Given the description of an element on the screen output the (x, y) to click on. 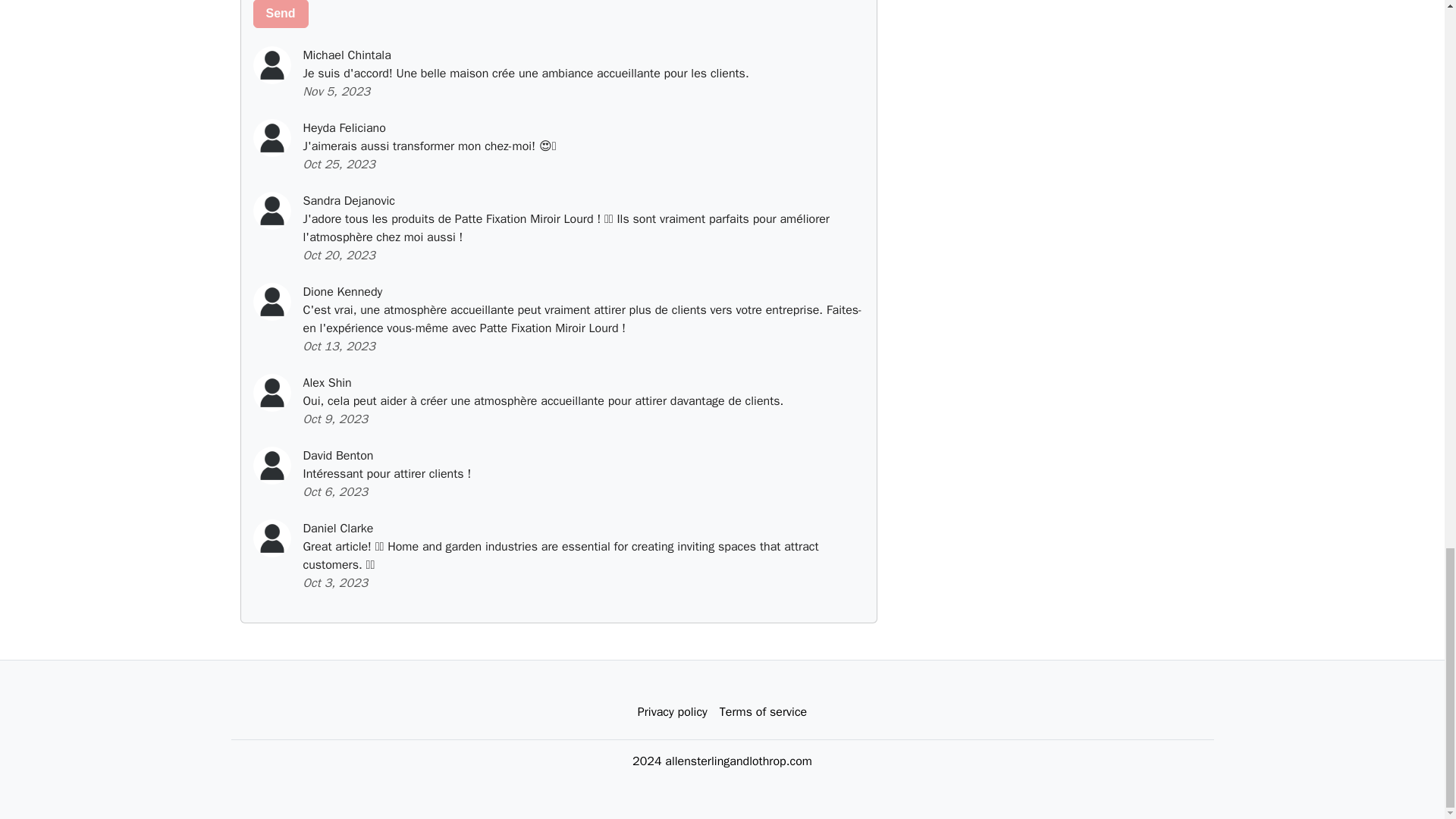
Terms of service (762, 711)
Privacy policy (672, 711)
Send (280, 13)
Send (280, 13)
